Given the description of an element on the screen output the (x, y) to click on. 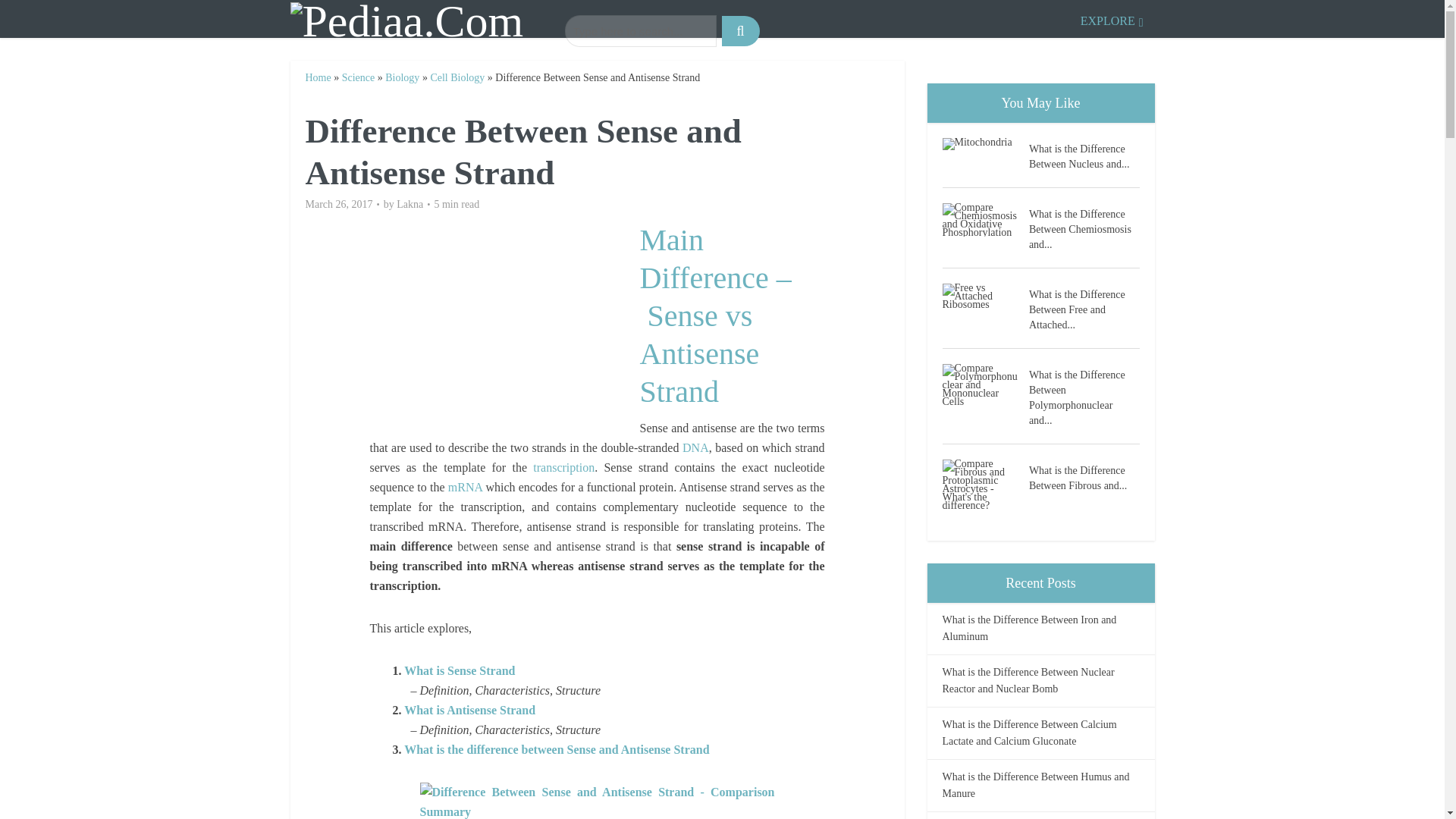
Cell Biology (456, 77)
transcription (563, 467)
EXPLORE (1111, 18)
DNA (695, 447)
What is the Difference Between Free and Attached Ribosomes (1084, 307)
What is the difference between Sense and Antisense Strand (556, 748)
What is the Difference Between Free and Attached Ribosomes (984, 295)
What is Antisense Strand (469, 709)
Type here to search... (640, 30)
